Given the description of an element on the screen output the (x, y) to click on. 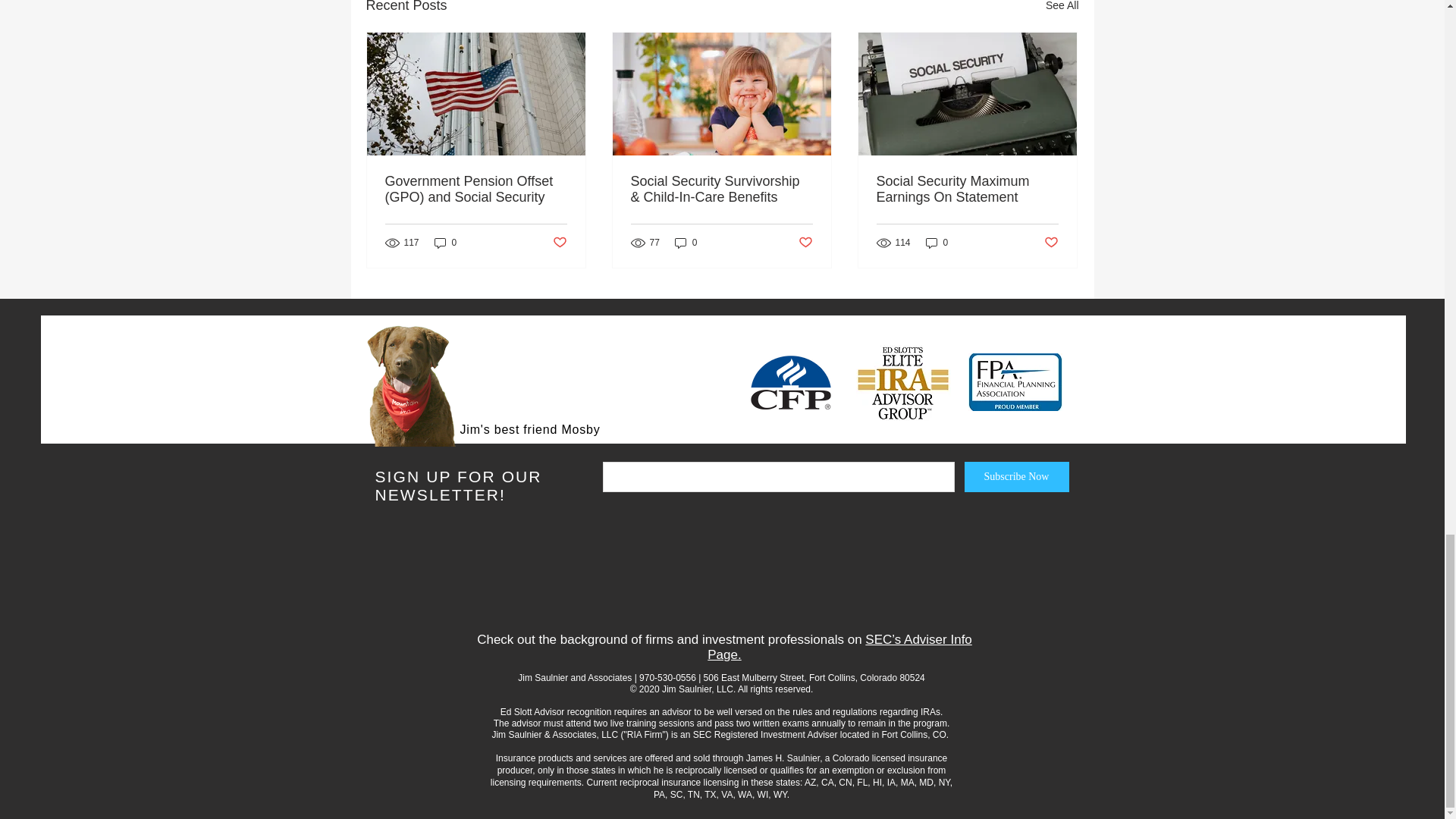
Post not marked as liked (804, 242)
0 (685, 242)
See All (1061, 8)
Social Security Maximum Earnings On Statement (967, 189)
0 (445, 242)
Post not marked as liked (558, 242)
